Given the description of an element on the screen output the (x, y) to click on. 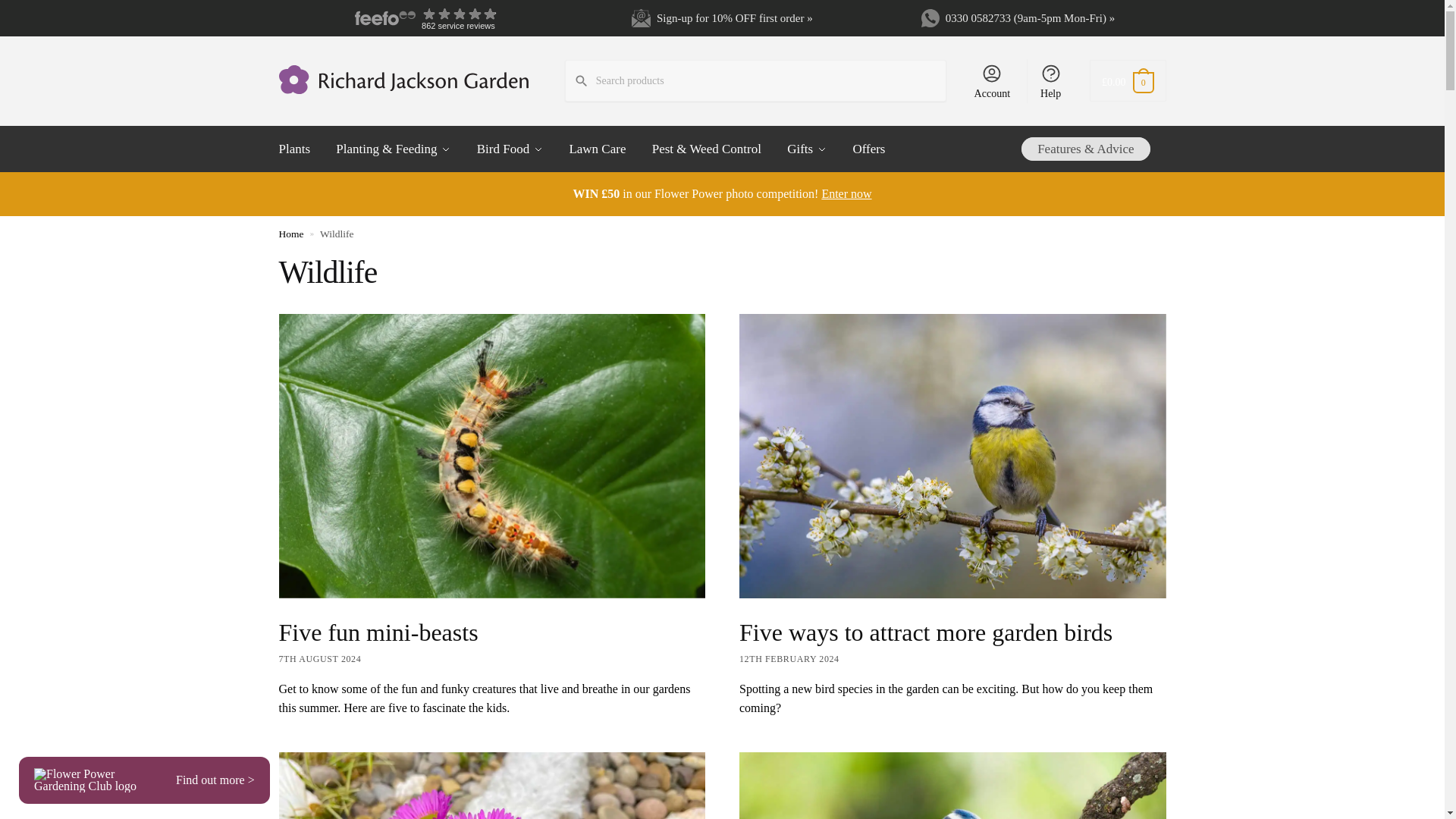
View your shopping cart (1127, 80)
New plant range avaialbe now! (721, 193)
Account (991, 80)
Bird Food (512, 148)
Plants (302, 148)
Help (1050, 80)
